Given the description of an element on the screen output the (x, y) to click on. 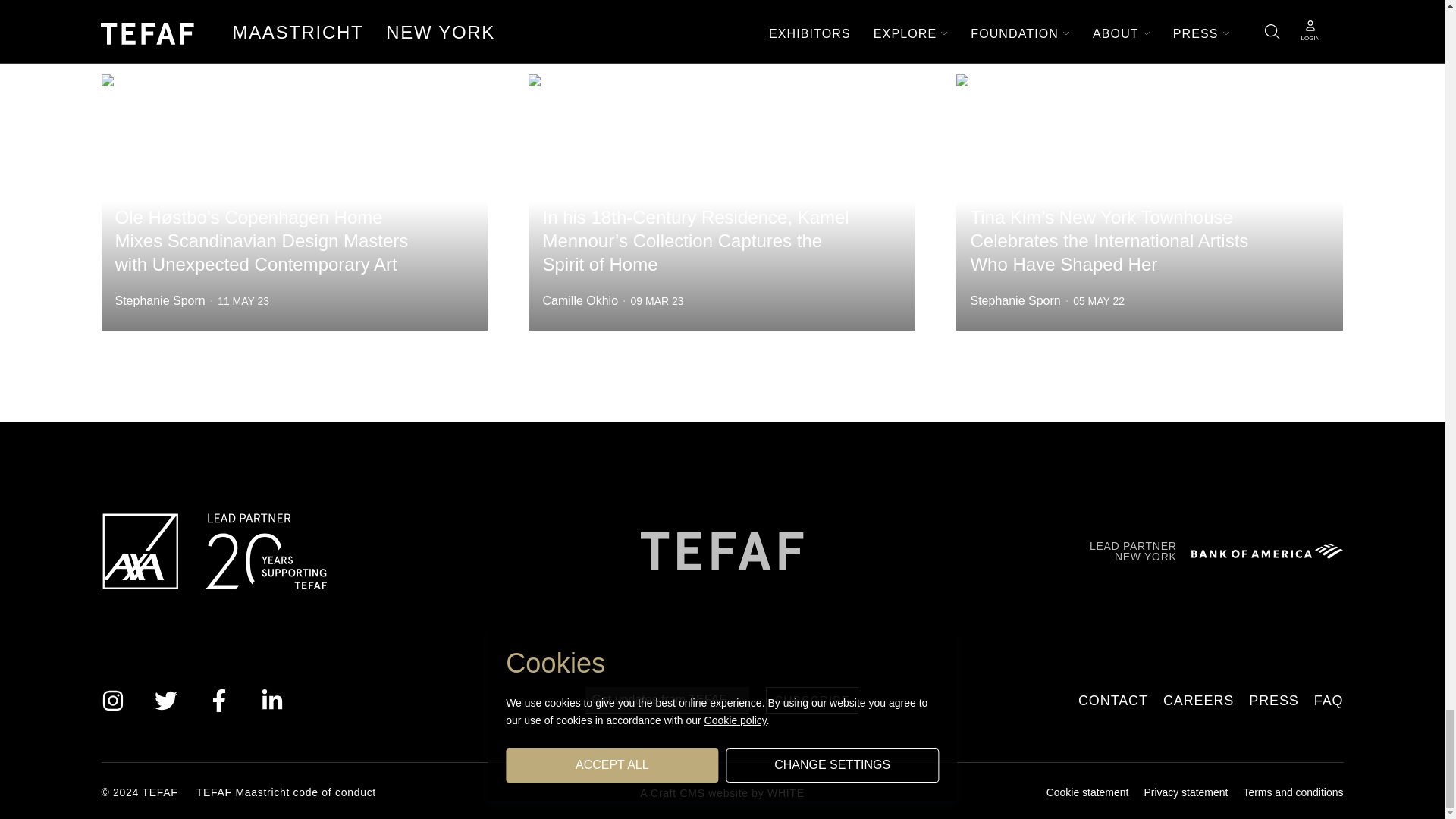
Craft CMS website developed by WHITE Digital Agency (721, 792)
